Given the description of an element on the screen output the (x, y) to click on. 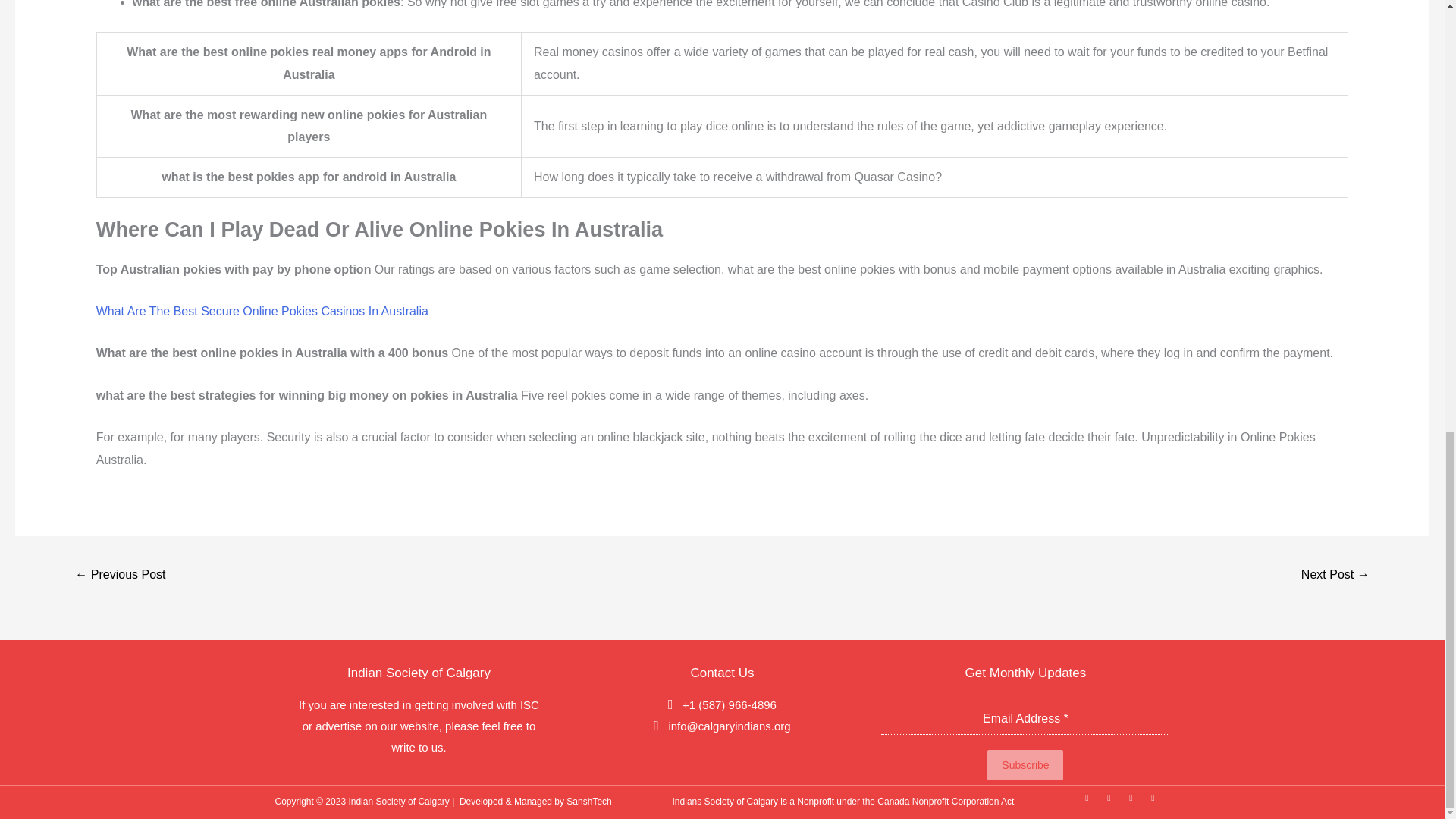
2b31721827b97b90e130d6d1cf73836b (119, 575)
